Given the description of an element on the screen output the (x, y) to click on. 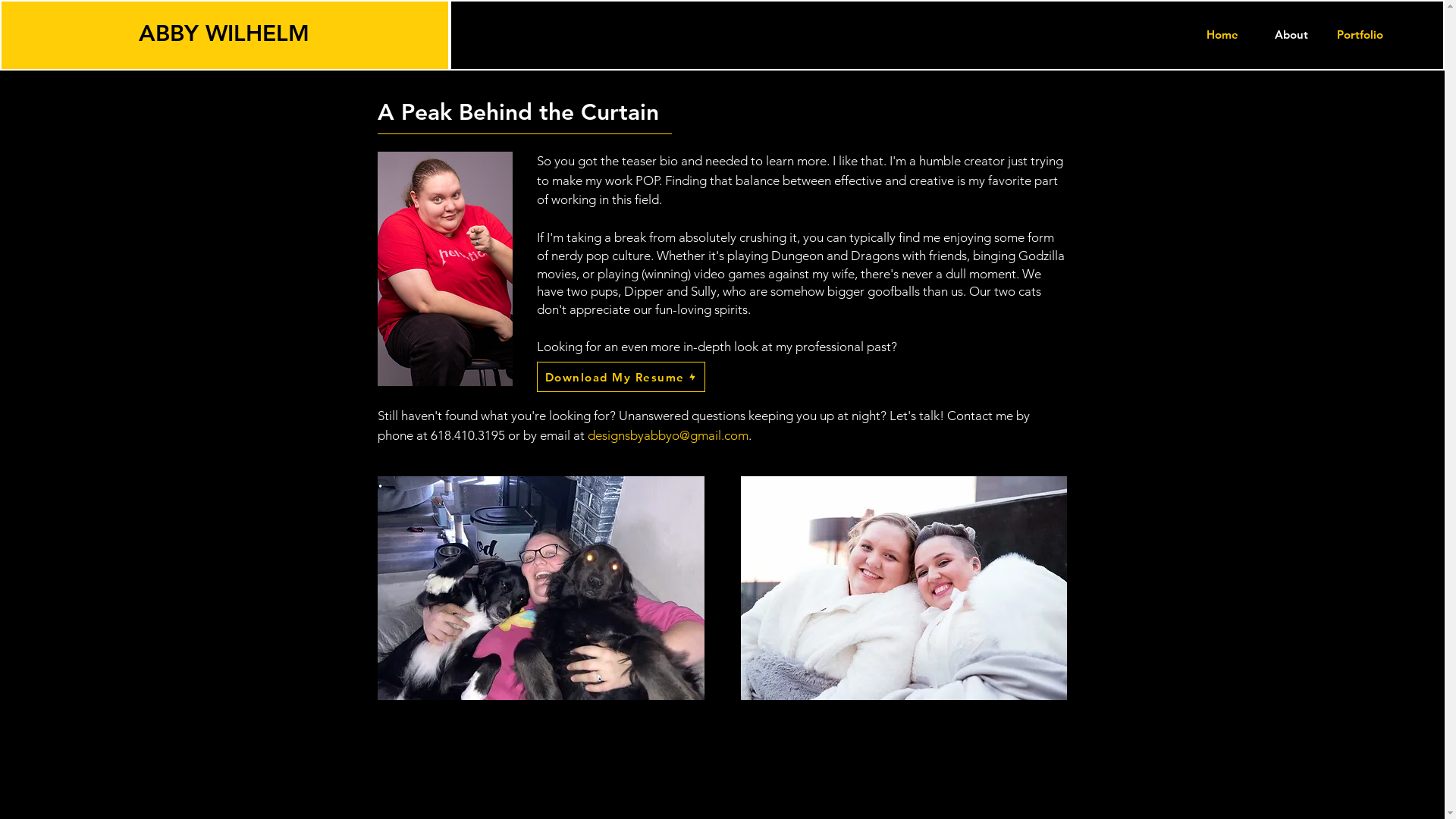
About Element type: text (1290, 34)
Home Element type: text (1221, 34)
Portfolio Element type: text (1359, 34)
designsbyabbyo@gmail.com Element type: text (666, 434)
IMG_2493.JPG Element type: hover (903, 587)
IMG_0988.jpg Element type: hover (540, 587)
Download My Resume Element type: text (620, 376)
IMG_0637.png Element type: hover (444, 268)
ABBY WILHELM Element type: text (223, 33)
